Given the description of an element on the screen output the (x, y) to click on. 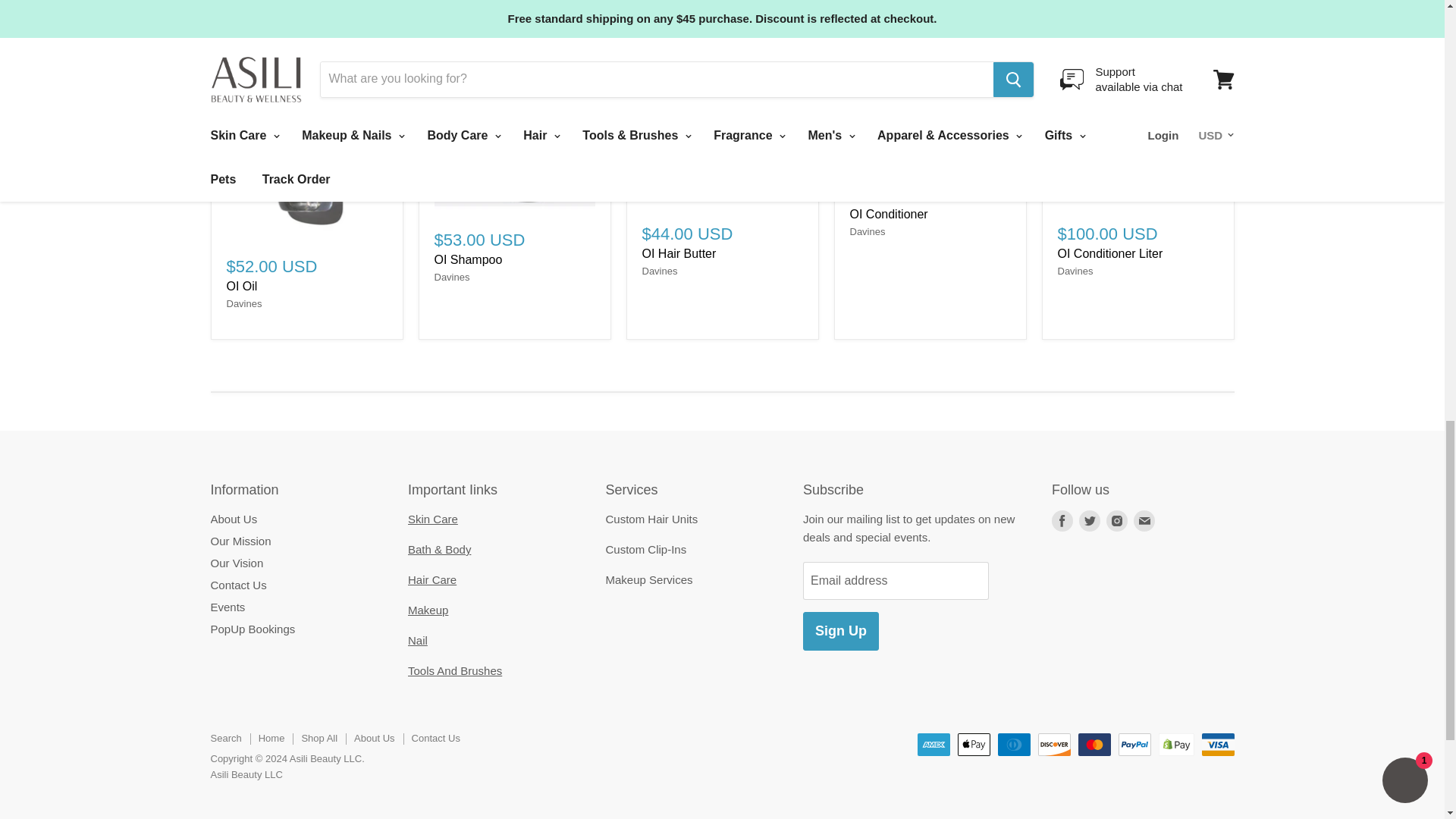
E-mail (1144, 520)
Tools and Brushes (454, 670)
Makeup (427, 609)
Hair (432, 579)
Nail (417, 640)
Twitter (1089, 520)
Instagram (1117, 520)
Bath and Body (438, 549)
Facebook (1061, 520)
Skin Care (432, 518)
